Given the description of an element on the screen output the (x, y) to click on. 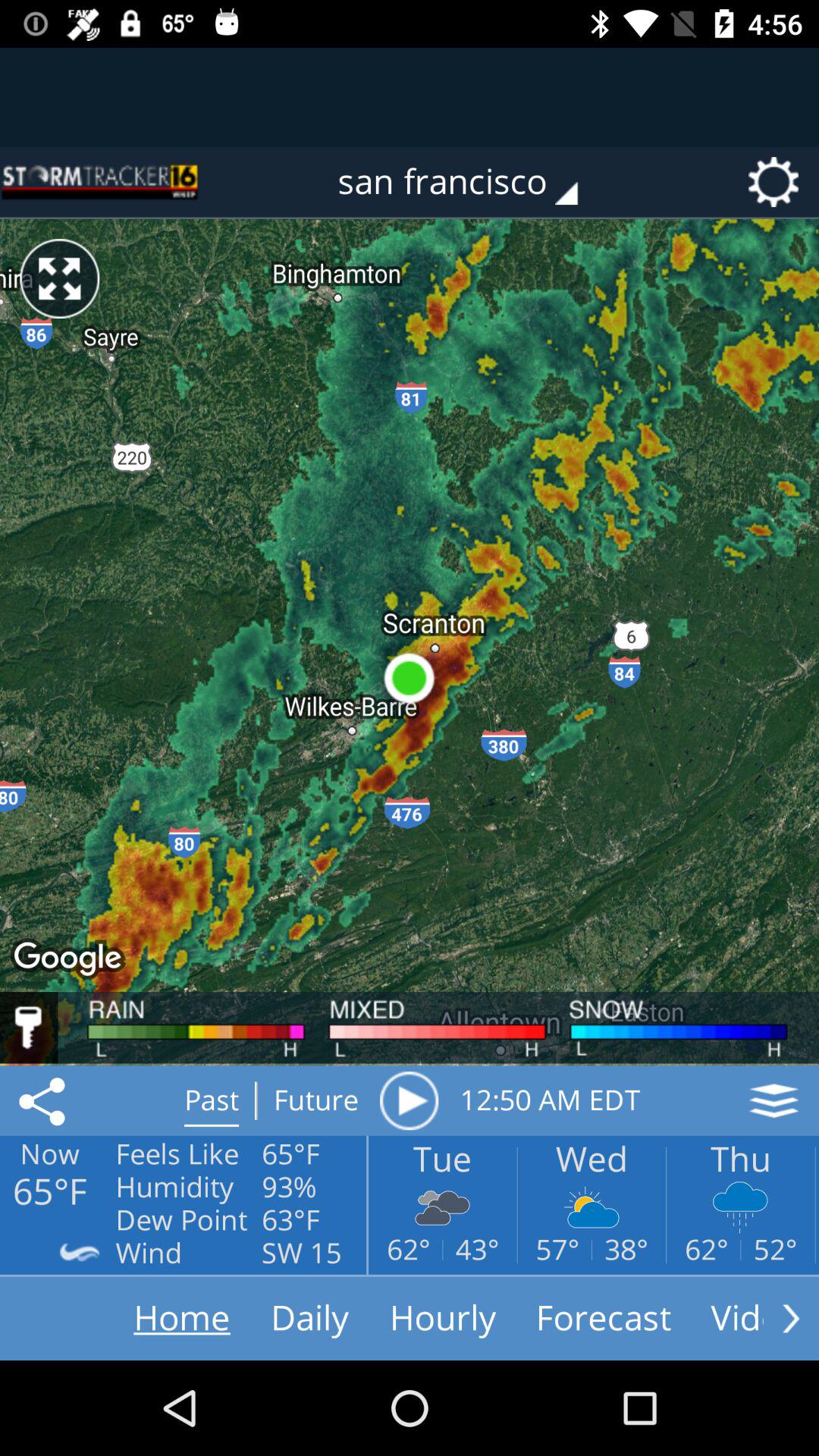
move forward (791, 1318)
